Given the description of an element on the screen output the (x, y) to click on. 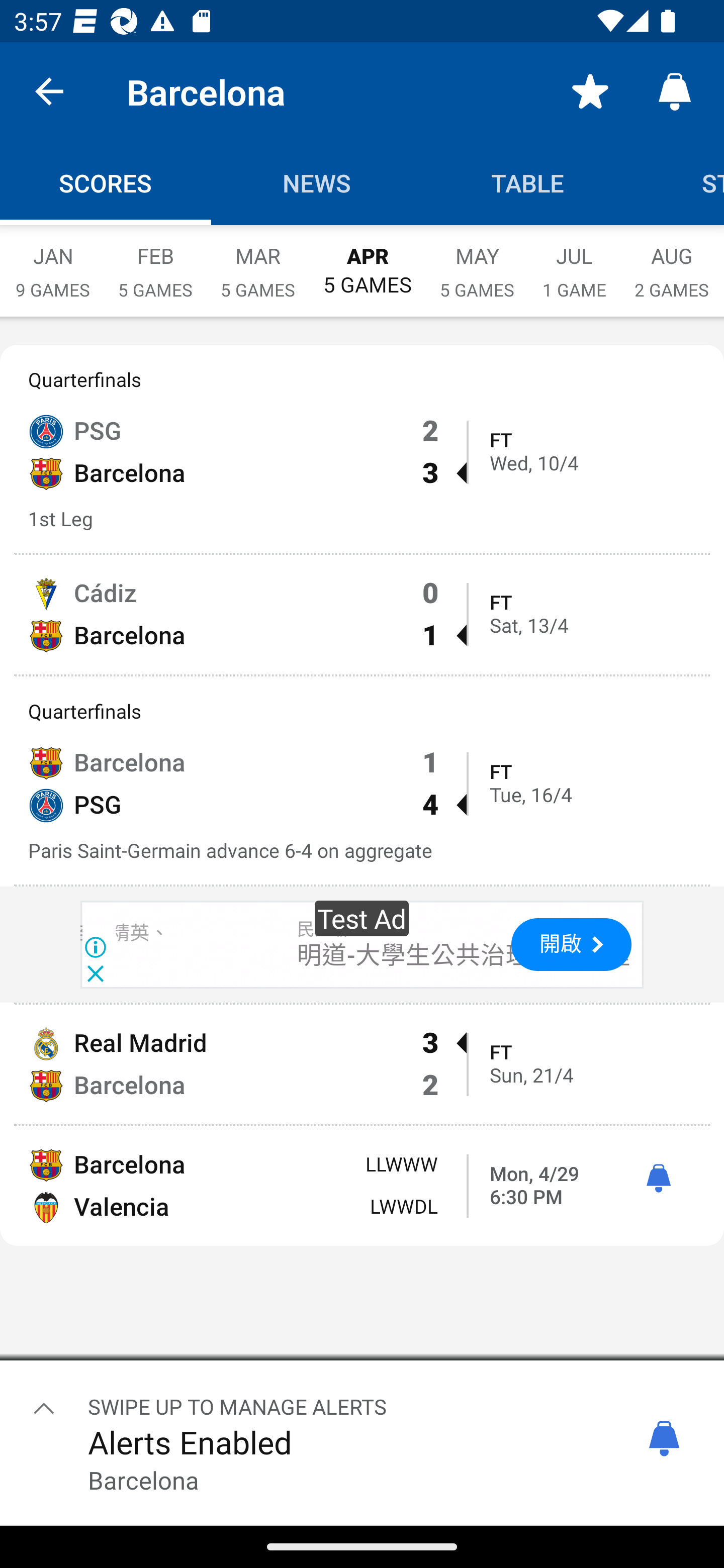
back.button (49, 90)
Favorite toggle (590, 90)
Alerts (674, 90)
News NEWS (316, 183)
Table TABLE (527, 183)
JAN 9 GAMES (52, 262)
FEB 5 GAMES (155, 262)
MAR 5 GAMES (257, 262)
APR 5 GAMES (367, 261)
MAY 5 GAMES (476, 262)
JUL 1 GAME (574, 262)
AUG 2 GAMES (671, 262)
Cádiz 0 Barcelona 1  FT Sat, 13/4 (362, 614)
開啟 (570, 944)
Real Madrid 3  Barcelona 2 FT Sun, 21/4 (362, 1064)
Barcelona LLWWW Valencia LWWDL Mon, 4/29 6:30 PM ì (362, 1185)
ì (658, 1178)
 (44, 1407)
